Given the description of an element on the screen output the (x, y) to click on. 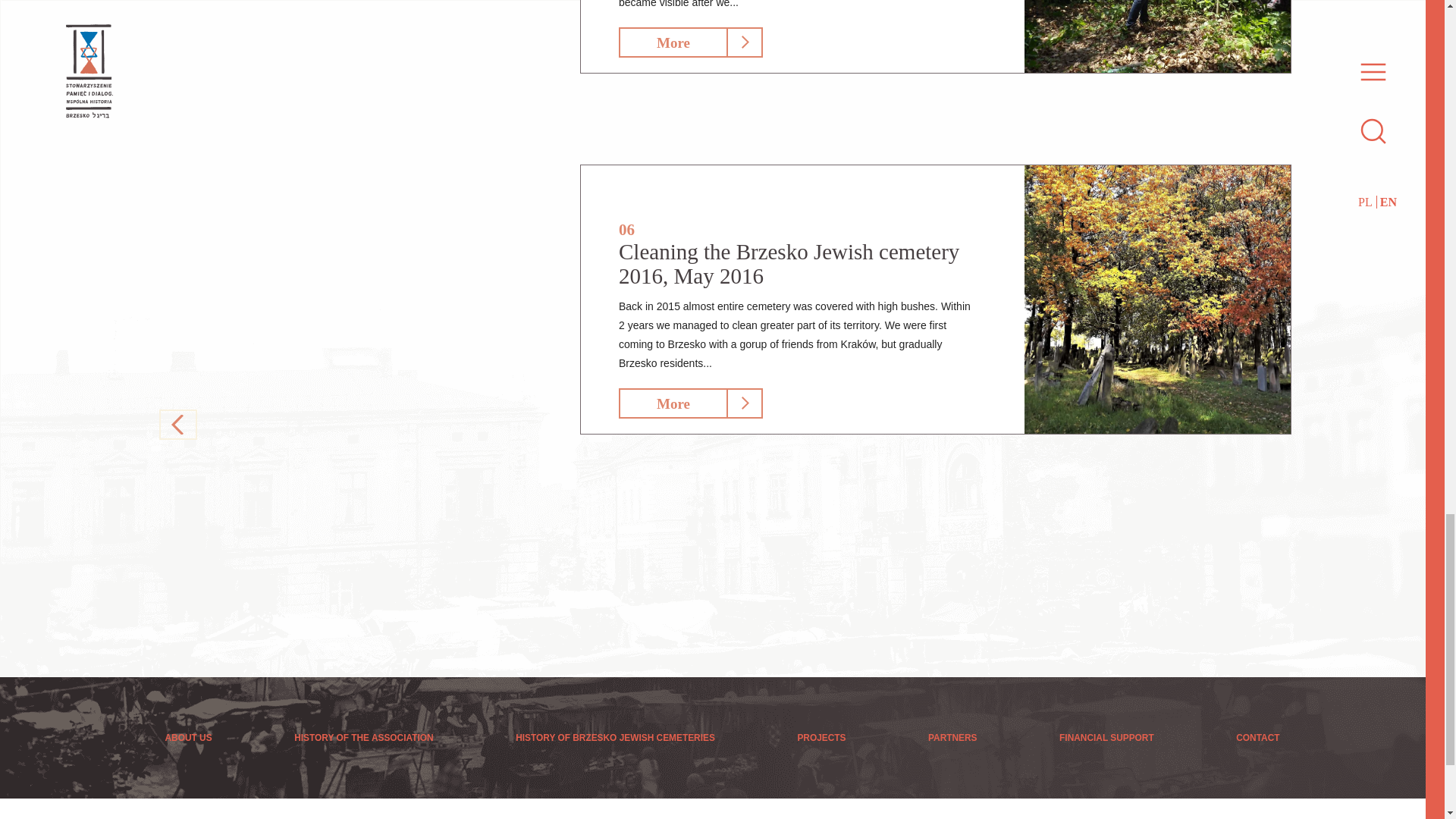
Cleaning the Brzesko Jewish cemetery 2016, May 2016 (788, 263)
More (673, 403)
Cleaning the Brzesko Jewish cemetery 2016, May 2016 (1157, 299)
More (673, 42)
Cleaning the cemetery, June 2016 (1157, 36)
